Given the description of an element on the screen output the (x, y) to click on. 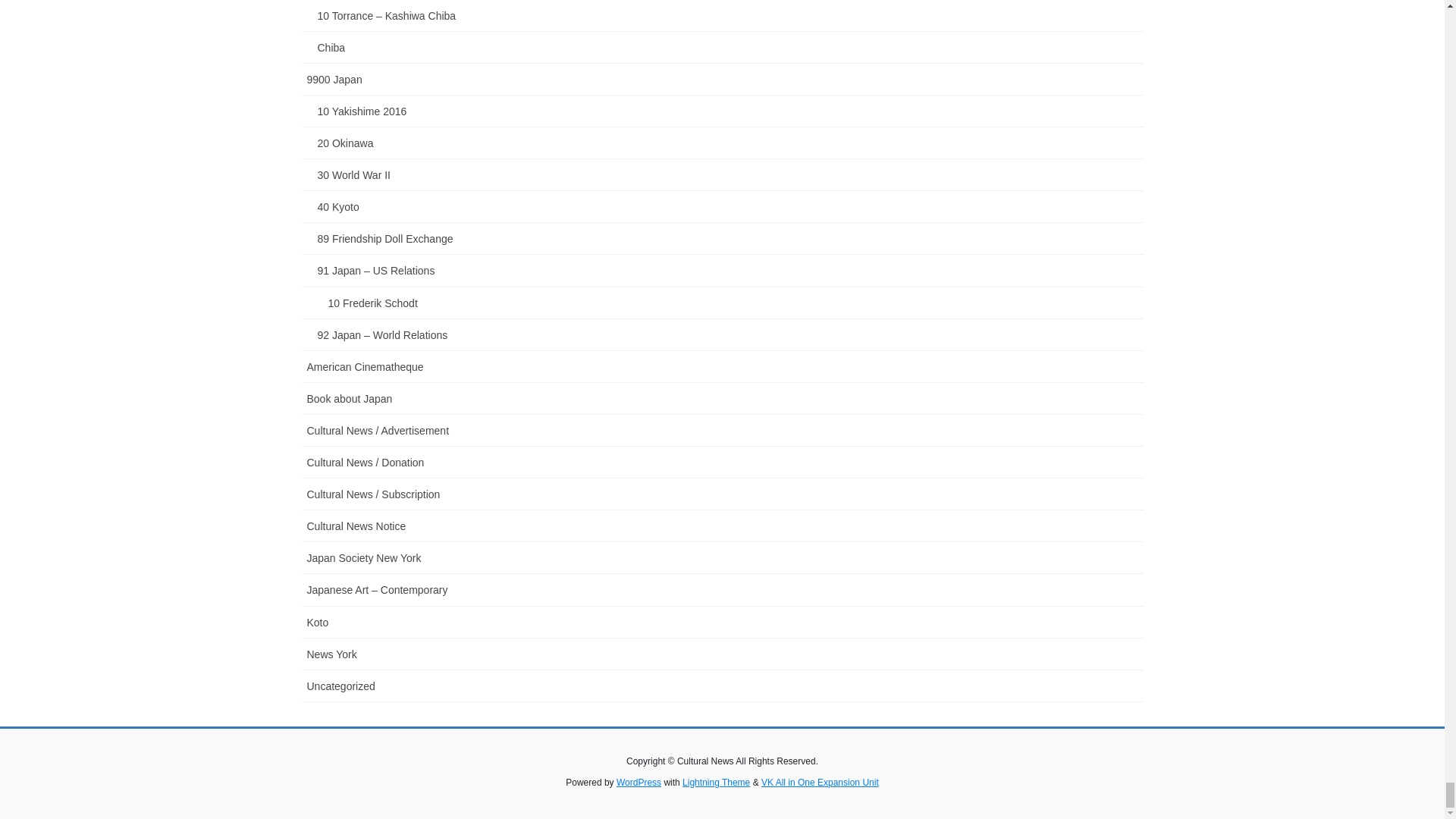
Free WordPress Theme Lightning (715, 782)
